Given the description of an element on the screen output the (x, y) to click on. 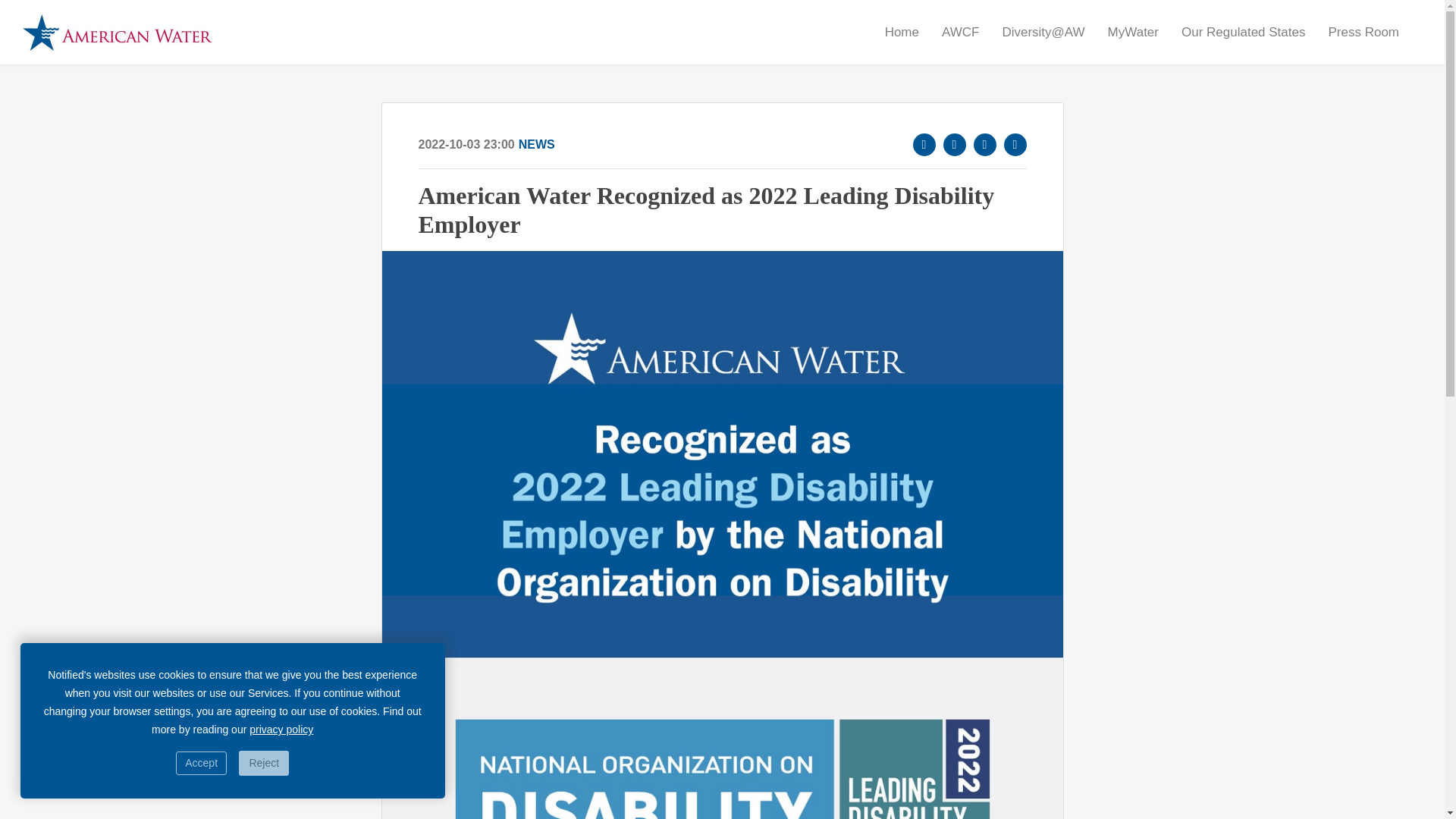
Accept (201, 762)
privacy policy (280, 729)
Our Regulated States (1242, 32)
Reject (263, 763)
MyWater (1133, 32)
AWCF (960, 32)
Press Room (1363, 32)
Home (901, 32)
